Given the description of an element on the screen output the (x, y) to click on. 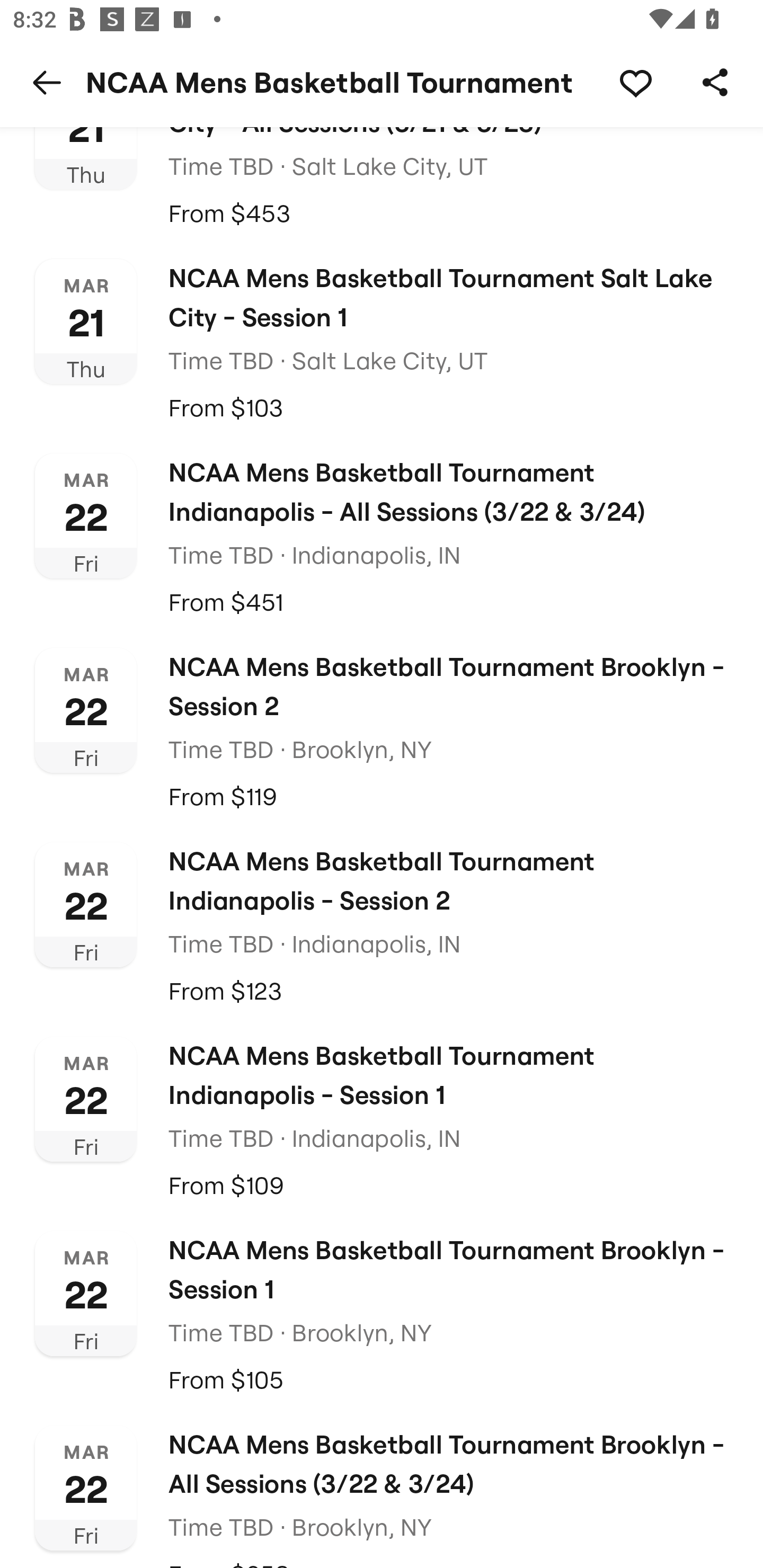
Back (47, 81)
Track this performer (635, 81)
Share this performer (715, 81)
